Given the description of an element on the screen output the (x, y) to click on. 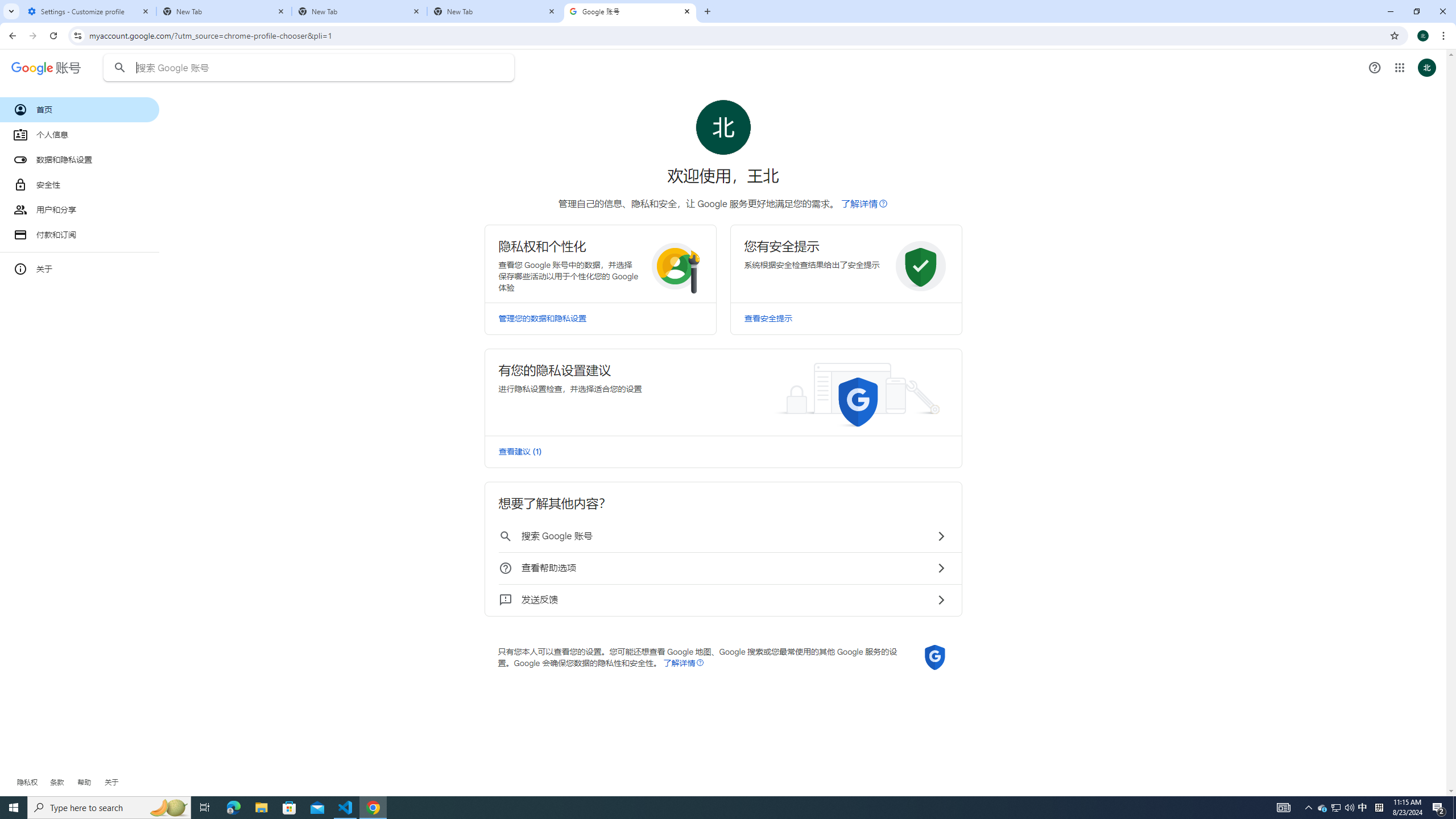
New Tab (494, 11)
